Given the description of an element on the screen output the (x, y) to click on. 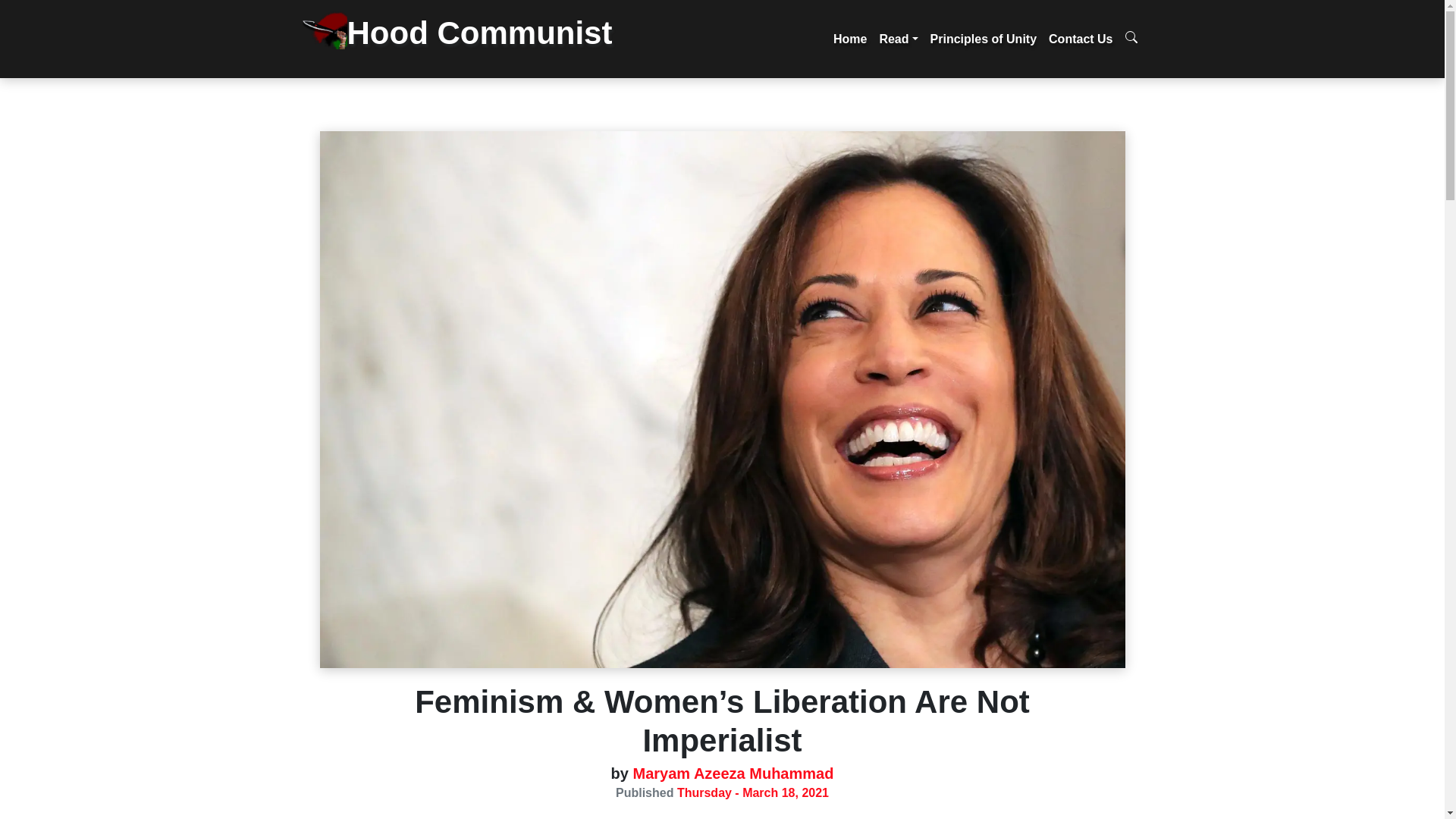
Principles of Unity (983, 38)
Contact Us (1080, 38)
Maryam Azeeza Muhammad (730, 773)
Read (897, 38)
Hood Communist (467, 38)
Principles of Unity (983, 38)
Thursday - March 18, 2021 (752, 792)
Home (849, 38)
Maryam Azeeza Muhammad (730, 773)
publishing date (752, 792)
Contact Us (1080, 38)
Home (849, 38)
Read (897, 38)
